Given the description of an element on the screen output the (x, y) to click on. 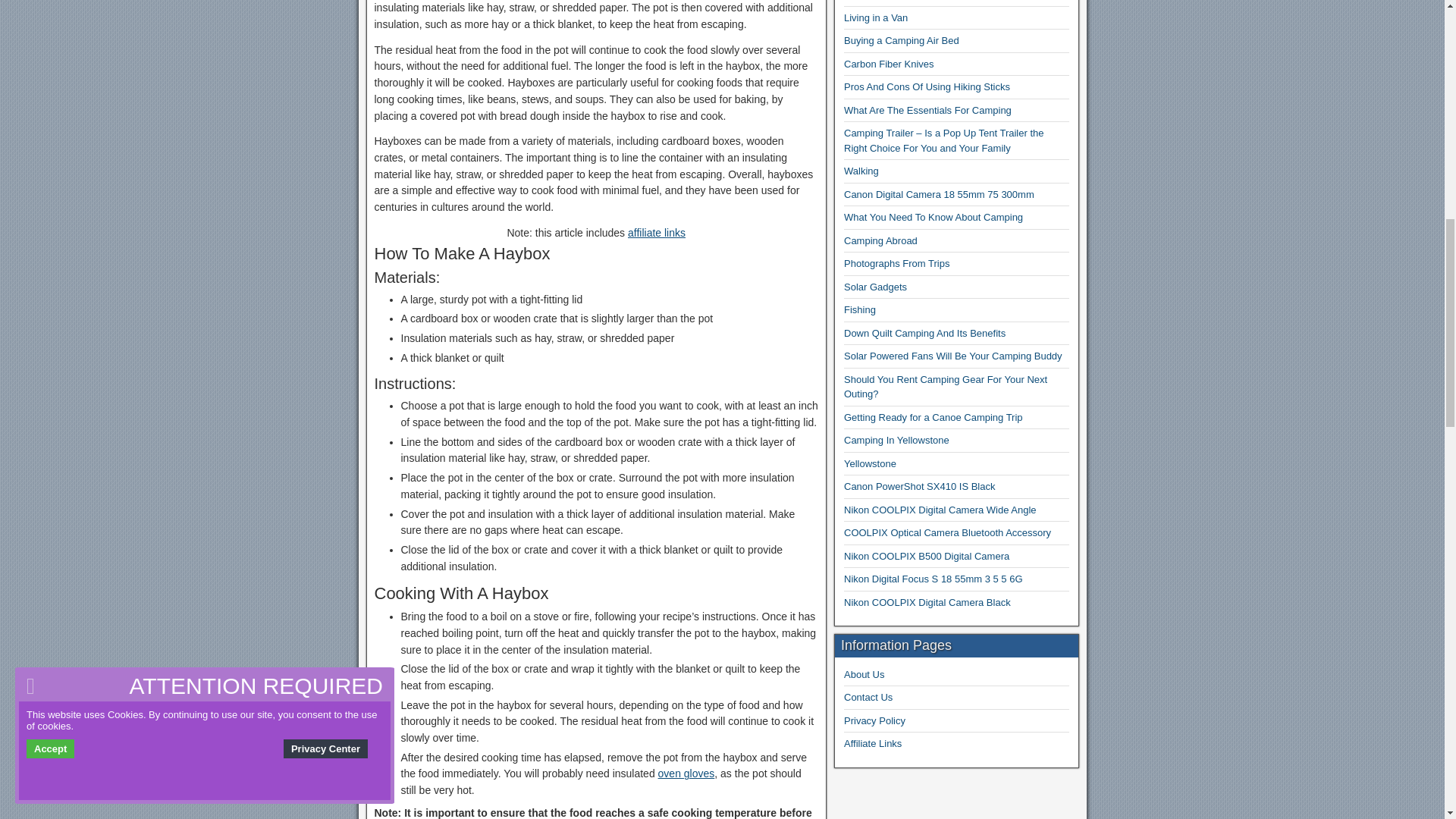
Pros And Cons Of Using Hiking Sticks (927, 86)
Photographs From Trips (896, 263)
Camping Abroad (880, 240)
affiliate links (656, 232)
What Are The Essentials For Camping (927, 110)
Solar Gadgets (875, 286)
oven gloves (686, 773)
Living in a Van (875, 17)
Walking (861, 170)
What You Need To Know About Camping (933, 216)
Carbon Fiber Knives (889, 63)
Canon Digital Camera 18 55mm 75 300mm (938, 194)
Buying a Camping Air Bed (901, 40)
